Given the description of an element on the screen output the (x, y) to click on. 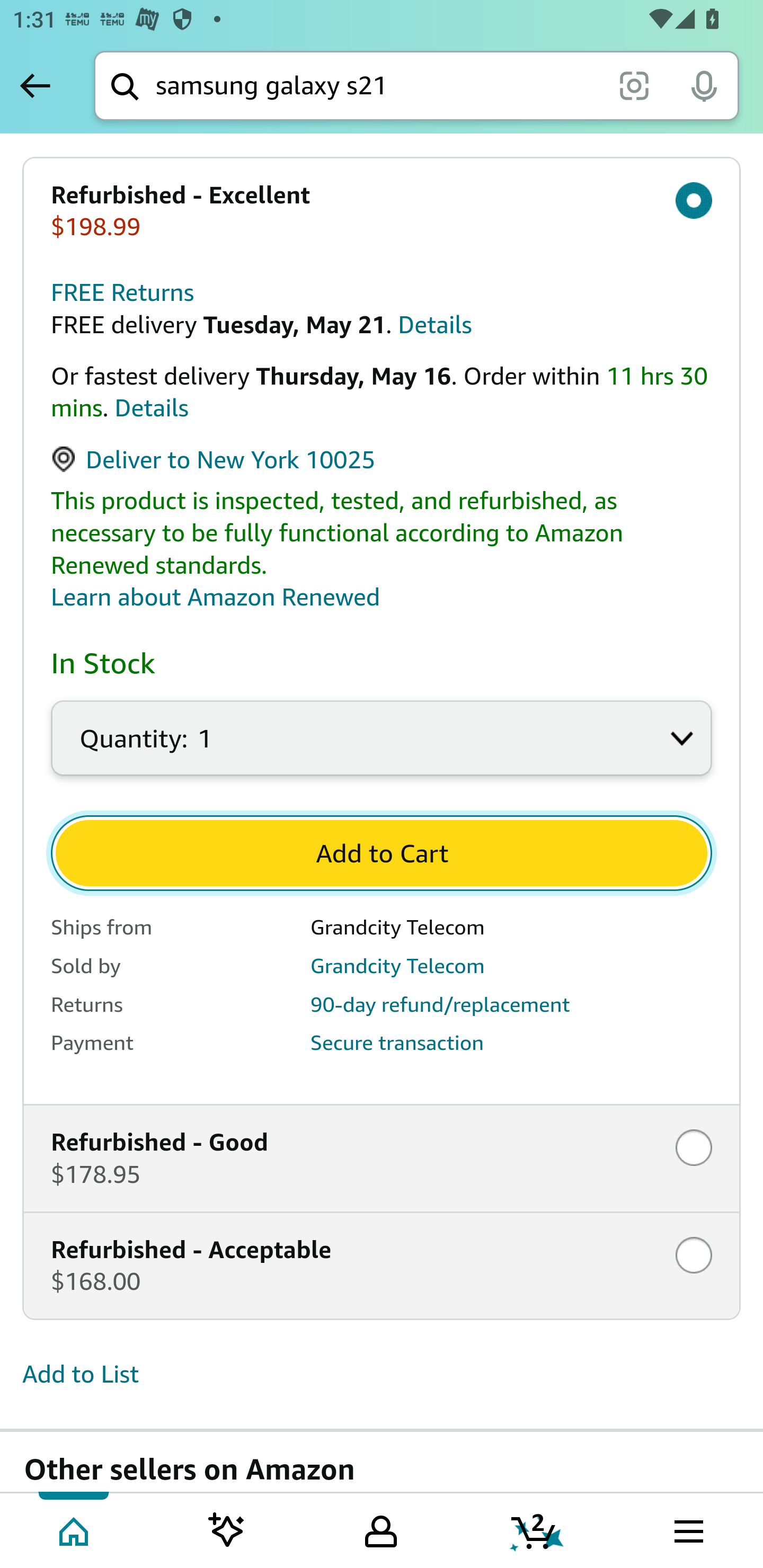
Back (35, 85)
scan it (633, 85)
Refurbished - Excellent $198.99 (381, 211)
FREE Returns (123, 292)
Details (434, 325)
Details (151, 408)
Deliver to New York 10025‌ (213, 460)
Learn about Amazon Renewed (216, 598)
1 (381, 749)
Add to Cart (381, 854)
Grandcity Telecom (396, 965)
Refurbished - Good $178.95 (381, 1158)
Refurbished - Acceptable $168.00 (381, 1266)
Add to List (80, 1375)
Home Tab 1 of 5 (75, 1529)
Inspire feed Tab 2 of 5 (227, 1529)
Your Amazon.com Tab 3 of 5 (380, 1529)
Cart 2 items Tab 4 of 5 2 (534, 1529)
Browse menu Tab 5 of 5 (687, 1529)
